Given the description of an element on the screen output the (x, y) to click on. 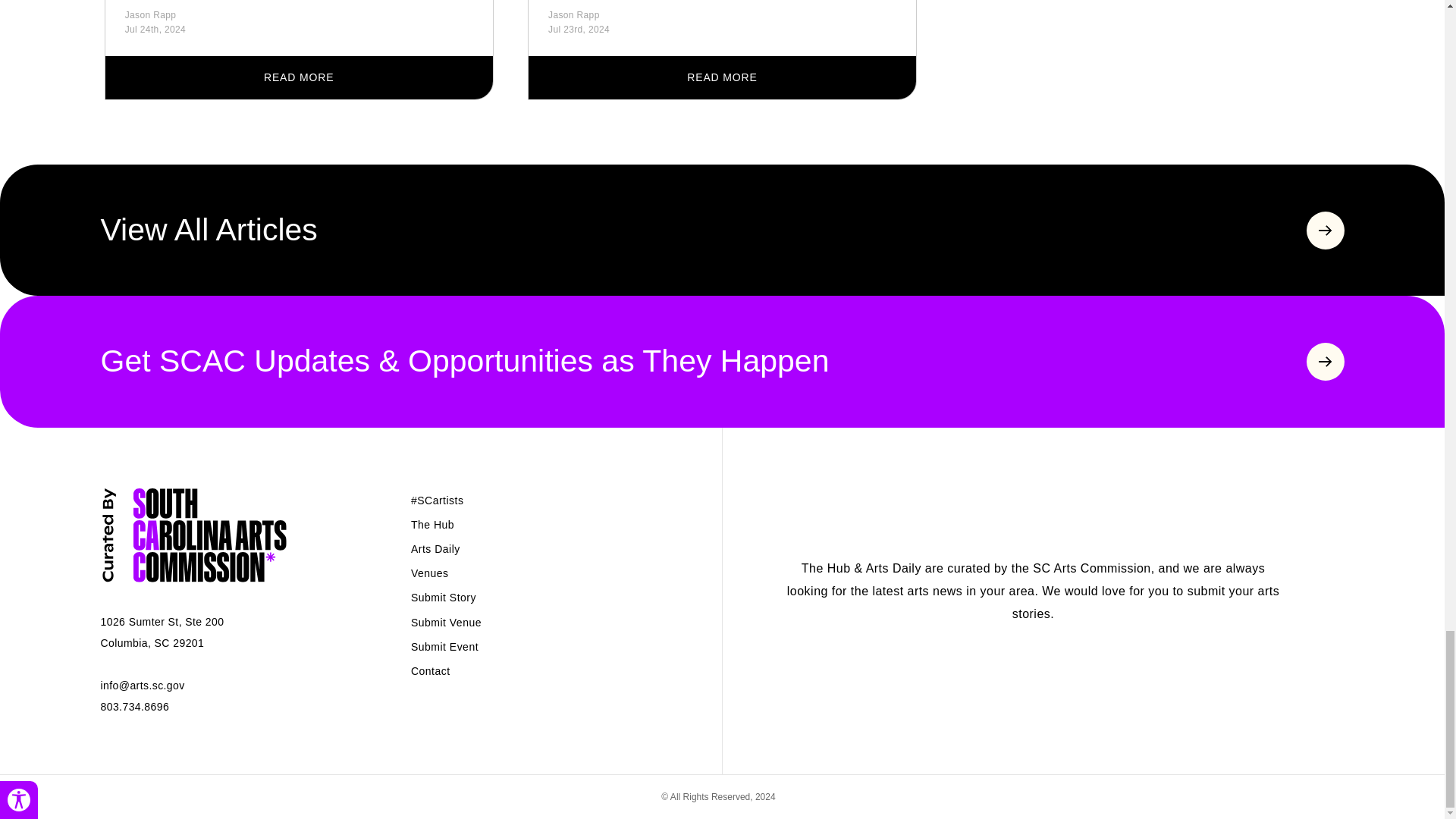
Venues (429, 573)
View All Articles (721, 229)
The Hub (432, 524)
Arts Daily (435, 548)
